Given the description of an element on the screen output the (x, y) to click on. 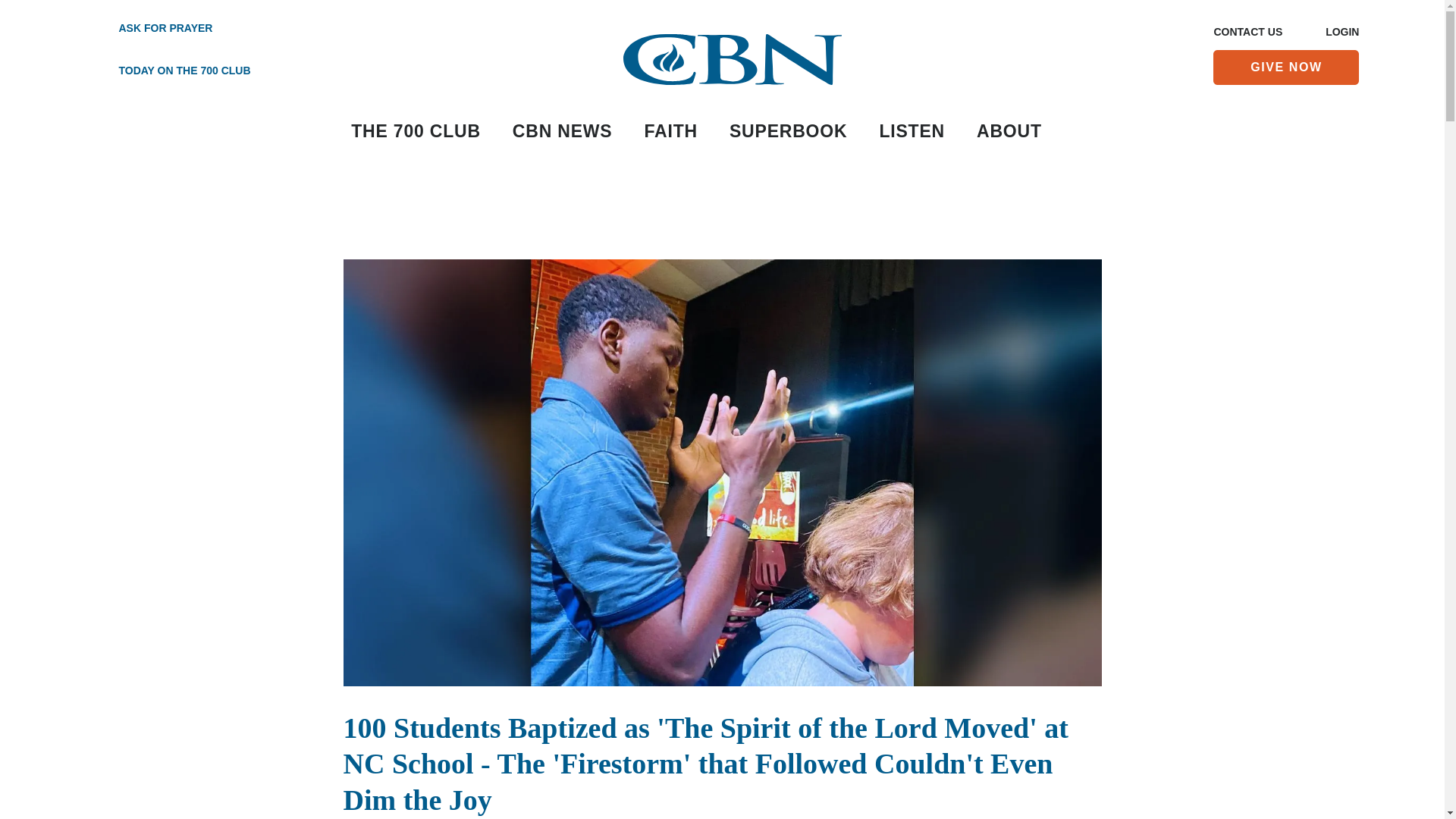
GIVE NOW (1285, 67)
ASK FOR PRAYER (167, 28)
CONTACT US (1247, 32)
LOGIN (1341, 32)
CBN NEWS (562, 131)
TODAY ON THE 700 CLUB (167, 71)
THE 700 CLUB (415, 131)
3rd party ad content (722, 213)
